Given the description of an element on the screen output the (x, y) to click on. 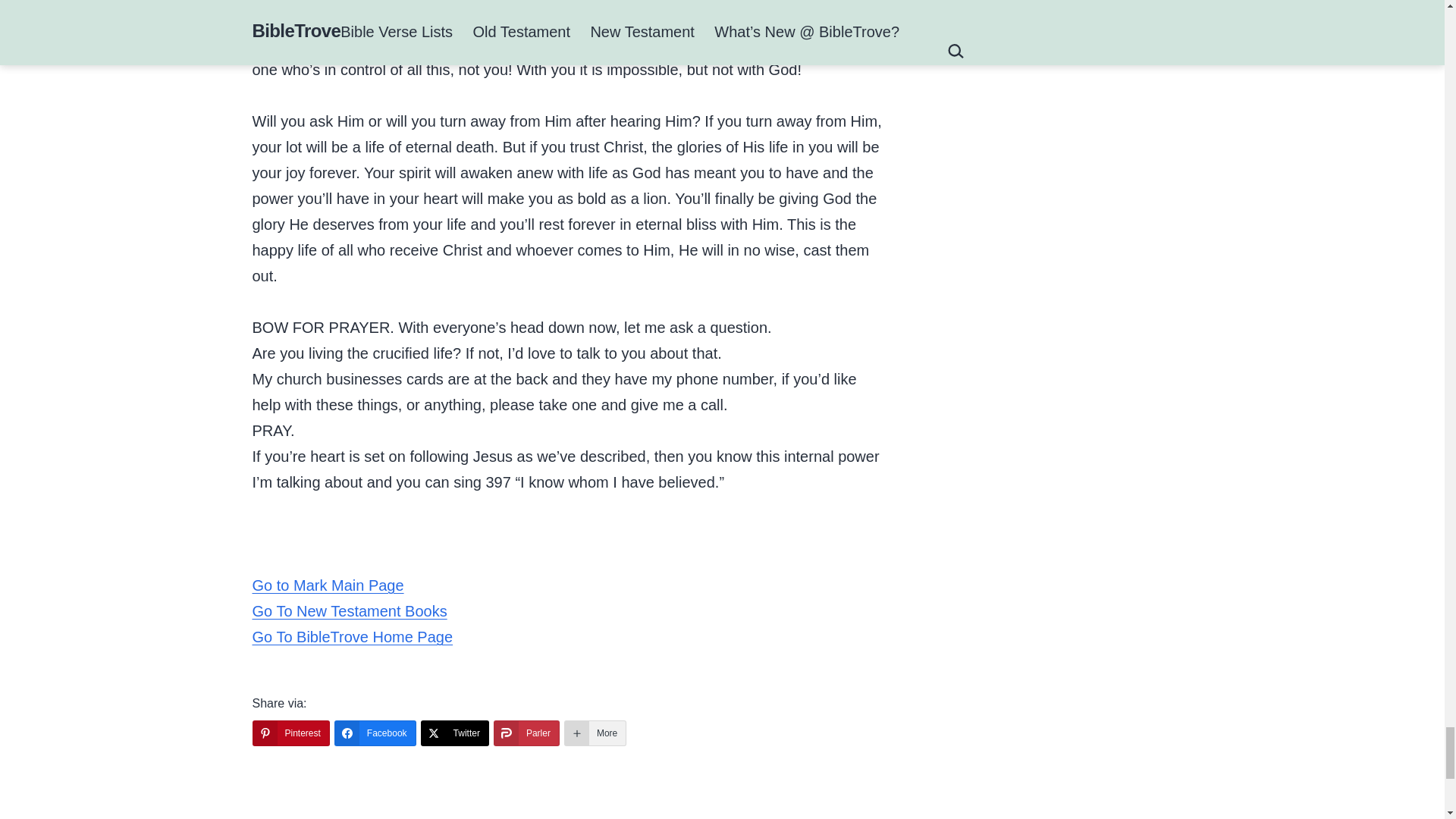
More (595, 733)
Go to Mark Main Page (327, 585)
Go To BibleTrove Home Page (351, 636)
Pinterest (290, 733)
Go To New Testament Books (348, 610)
Parler (526, 733)
Facebook (375, 733)
Twitter (454, 733)
